Given the description of an element on the screen output the (x, y) to click on. 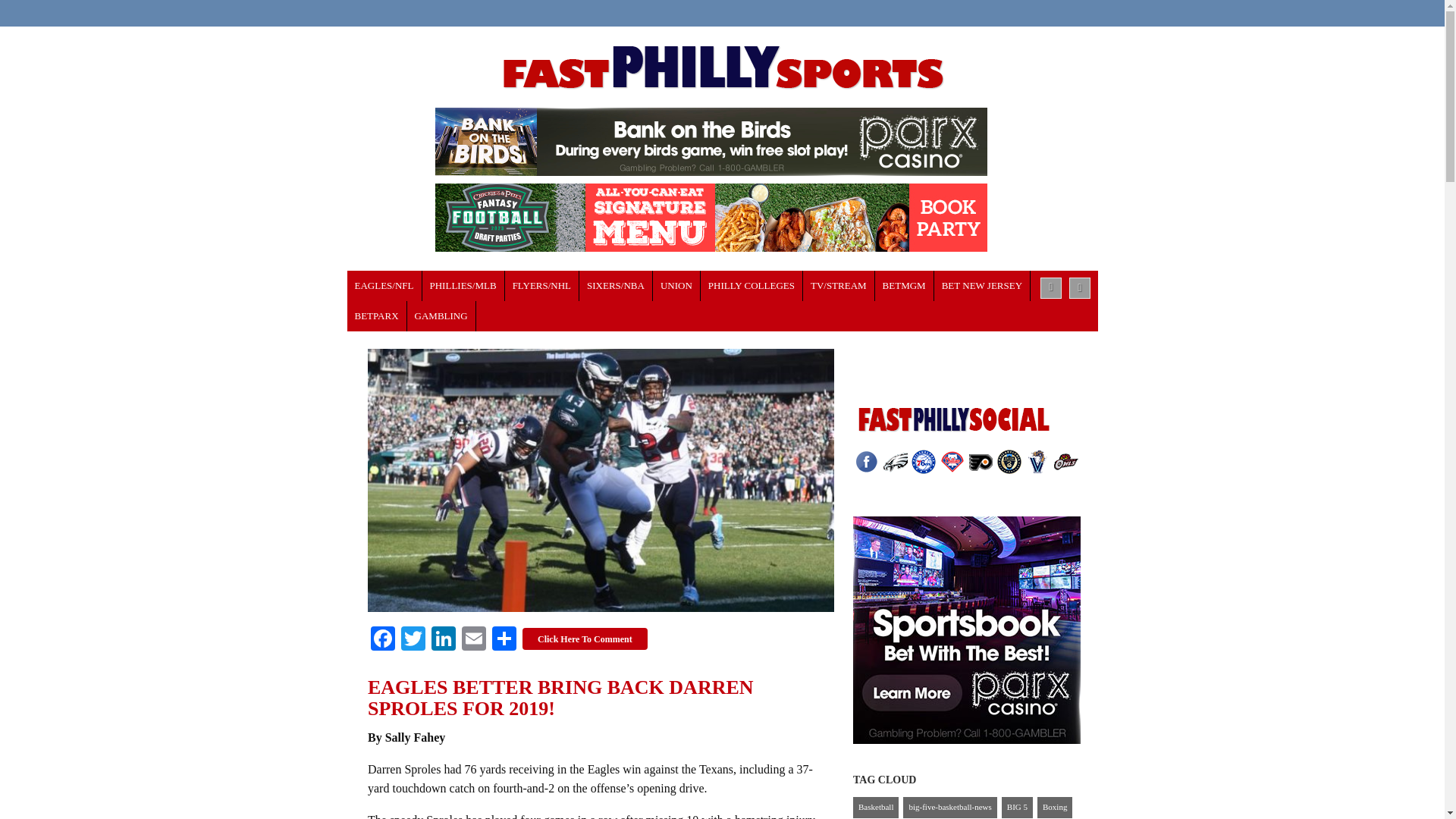
Email (473, 640)
LinkedIn (443, 640)
BETPARX (377, 316)
PHILLY COLLEGES (751, 286)
BETMGM (904, 286)
Share (504, 640)
GAMBLING (441, 316)
BET NEW JERSEY (982, 286)
LA SALLE (751, 286)
UNION (676, 286)
